Given the description of an element on the screen output the (x, y) to click on. 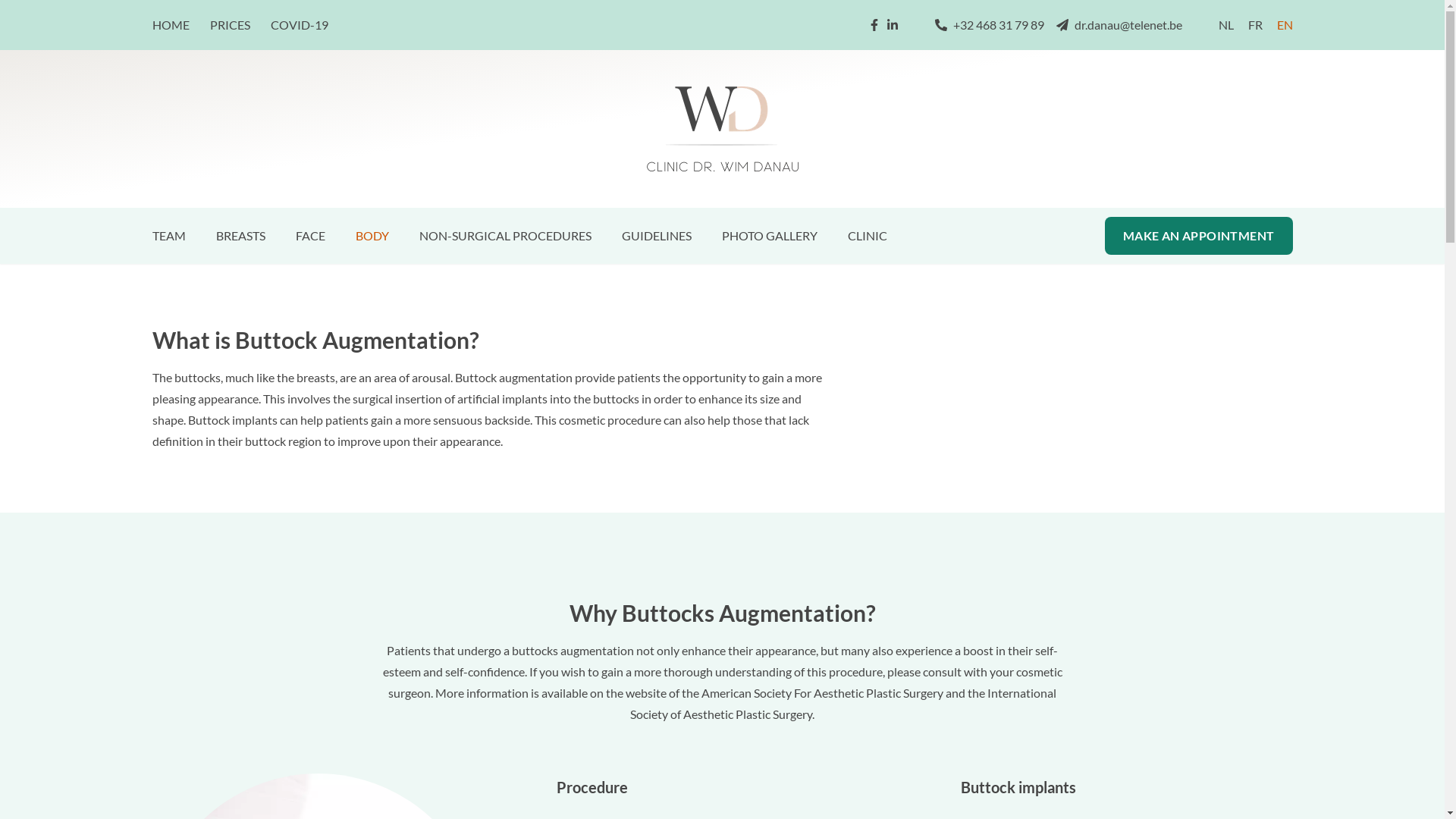
Facebook Element type: hover (873, 24)
EN Element type: text (1284, 24)
HOME Element type: text (171, 24)
PRICES Element type: text (230, 24)
BODY Element type: text (371, 239)
+32 468 31 79 89 Element type: text (988, 24)
COVID-19 Element type: text (298, 24)
NL Element type: text (1225, 24)
MAKE AN APPOINTMENT Element type: text (1198, 235)
GUIDELINES Element type: text (656, 239)
TEAM Element type: text (168, 235)
CLINIC Element type: text (867, 239)
BREASTS Element type: text (239, 239)
LinkedIn Element type: hover (891, 24)
FACE Element type: text (310, 239)
FR Element type: text (1255, 24)
dr.danau@telenet.be Element type: text (1118, 24)
PHOTO GALLERY Element type: text (769, 239)
NON-SURGICAL PROCEDURES Element type: text (504, 239)
